Given the description of an element on the screen output the (x, y) to click on. 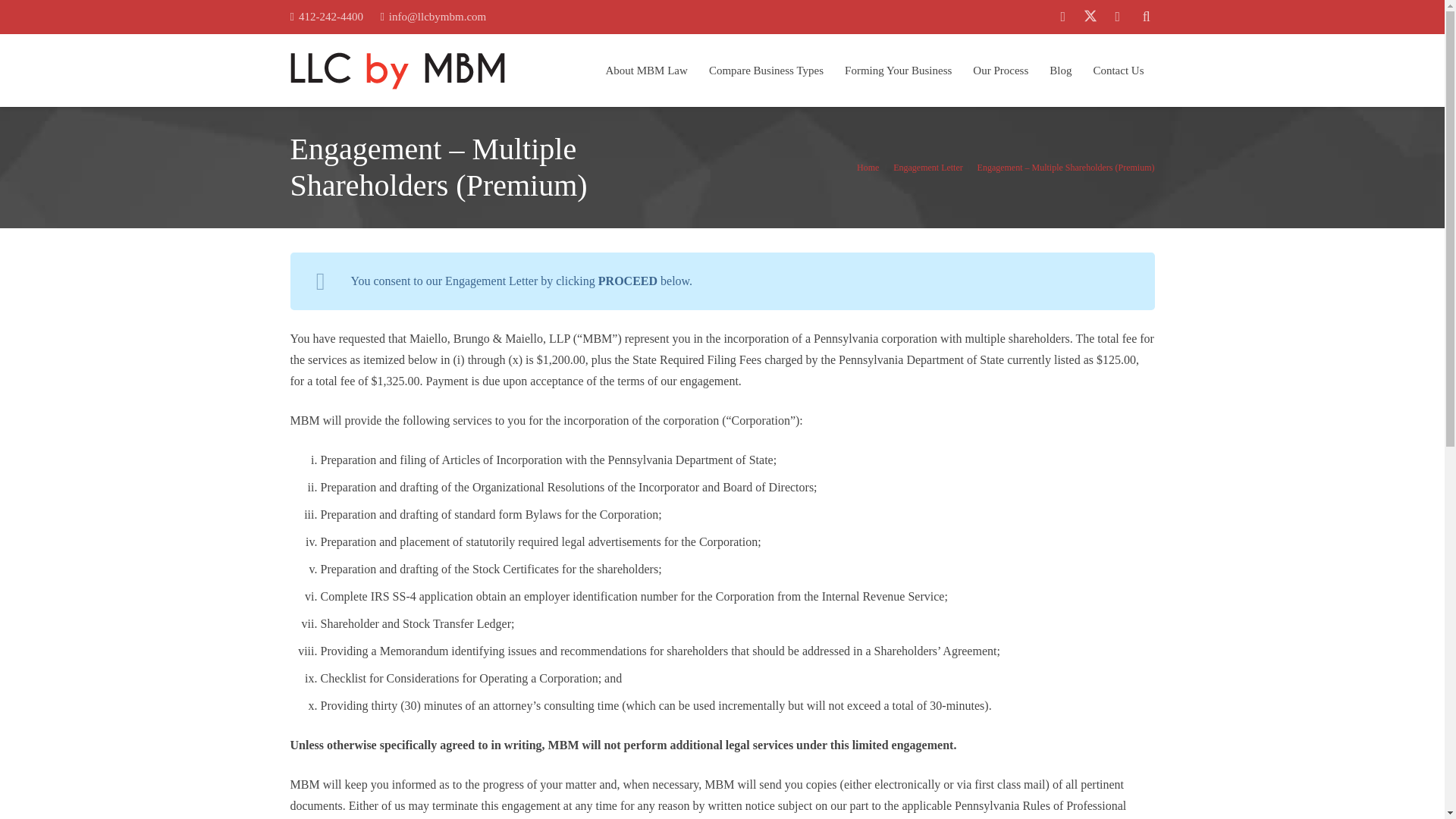
412-242-4400 (325, 16)
LinkedIn (1117, 16)
Engagement Letter (927, 167)
Forming Your Business (898, 70)
About MBM Law (646, 70)
Home (868, 167)
Facebook (1063, 16)
Twitter (1090, 16)
Compare Business Types (766, 70)
Our Process (1000, 70)
Contact Us (1117, 70)
